Given the description of an element on the screen output the (x, y) to click on. 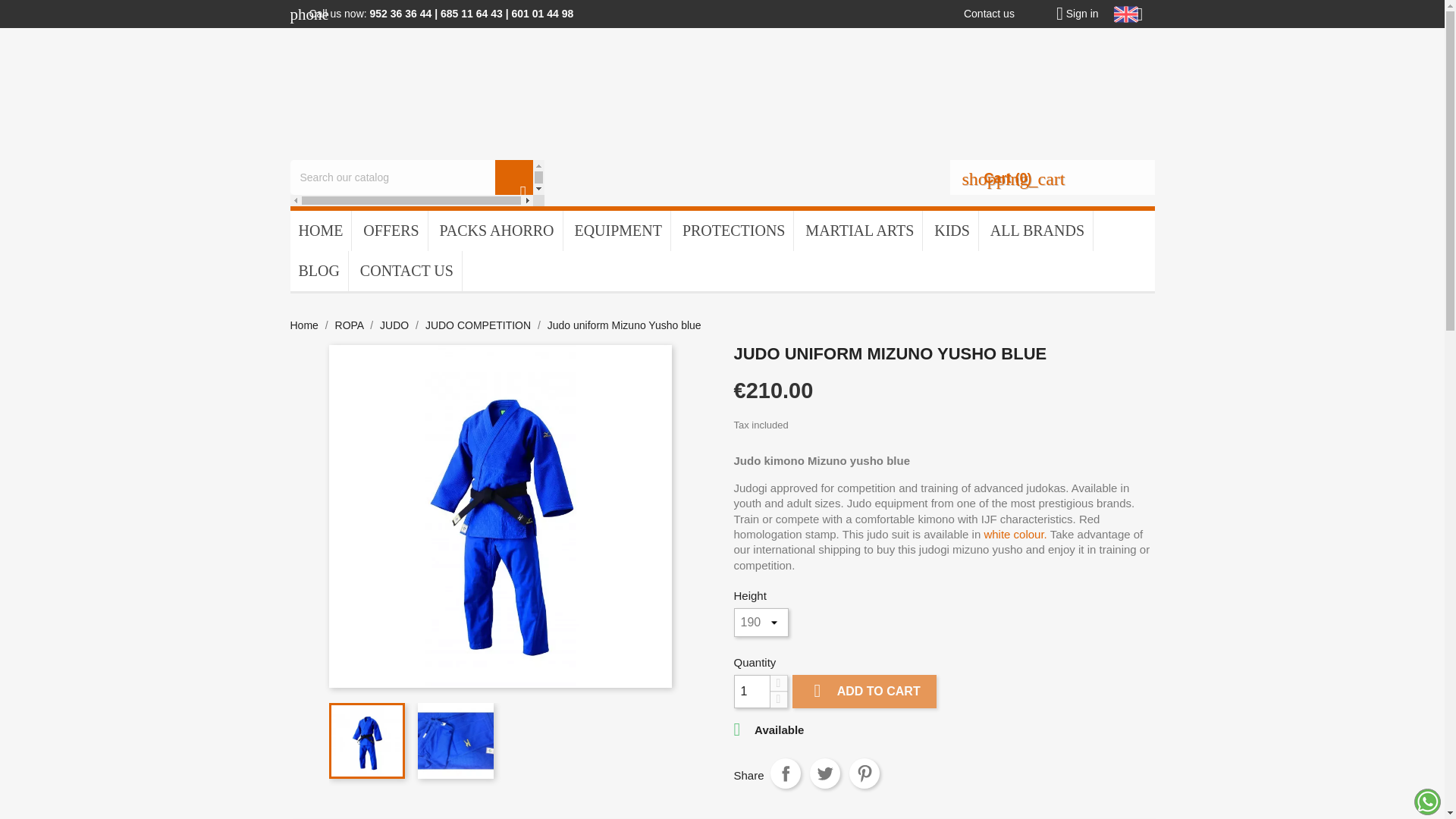
Pinterest (863, 773)
601 01 44 98 (542, 13)
PACKS AHORRO (496, 230)
952 36 36 44 (400, 13)
EQUIPMENT (617, 230)
OFFERS (390, 230)
HOME (319, 230)
 Mizuno Yusho Judogi blue (500, 515)
Tweet (824, 773)
 Mizuno Yusho Judogi blue (455, 740)
